Given the description of an element on the screen output the (x, y) to click on. 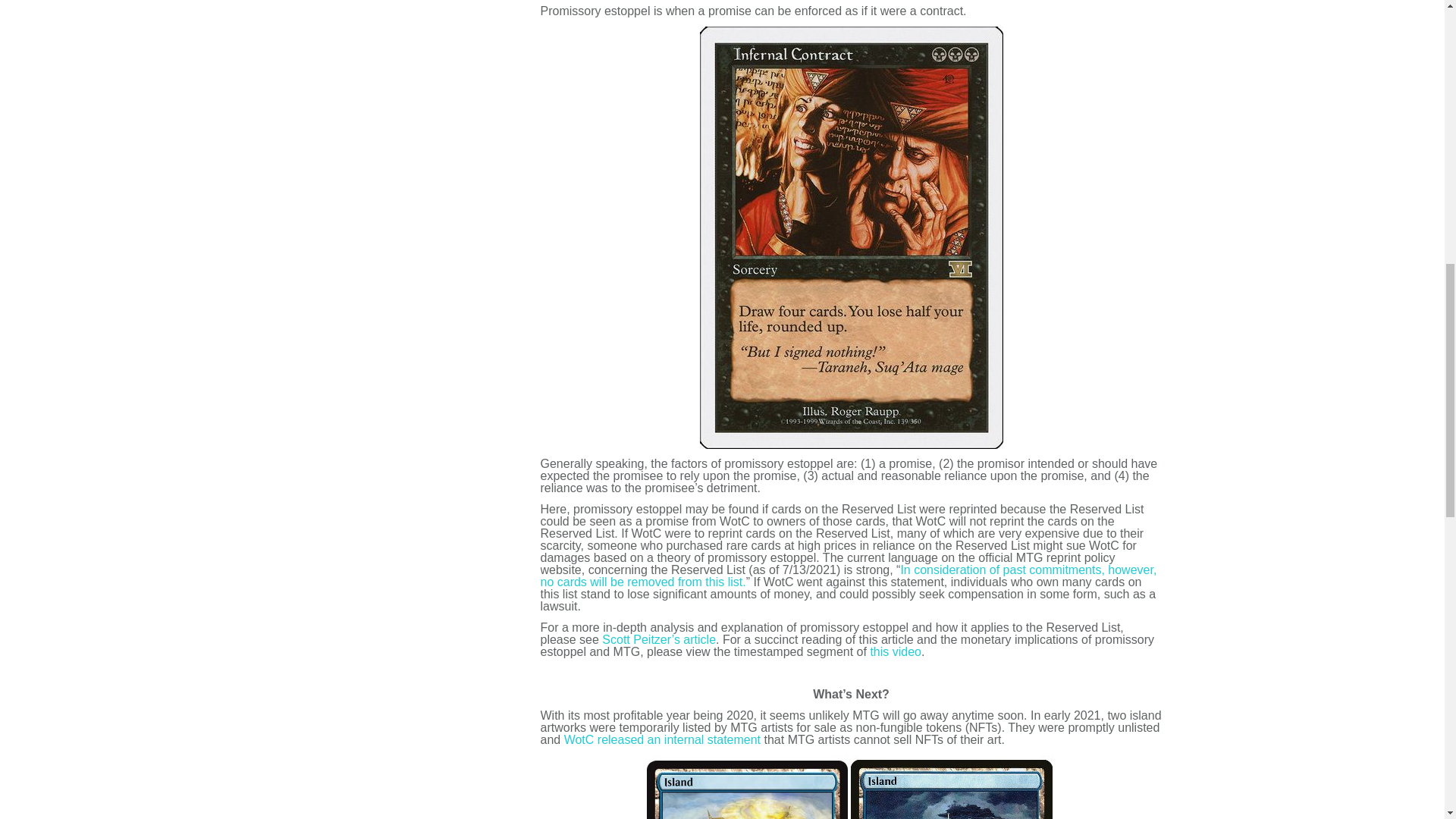
WotC released an internal statement (662, 739)
this video (895, 651)
